Given the description of an element on the screen output the (x, y) to click on. 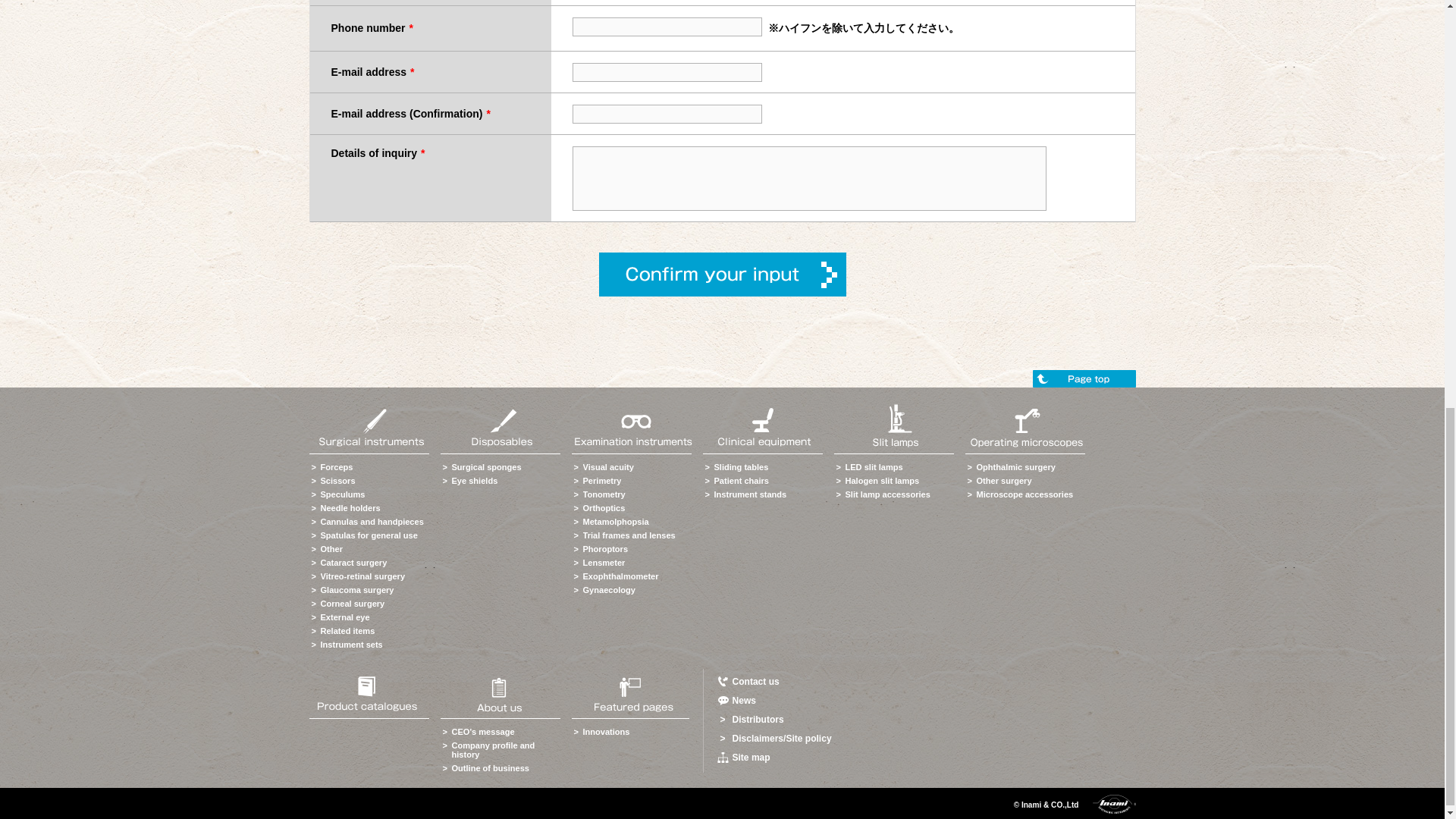
Tonometry (603, 493)
Cataract surgery (353, 562)
Surgical sponges (486, 466)
Glaucoma surgery (356, 589)
Corneal surgery (352, 603)
Forceps (336, 466)
Cannulas and handpieces (371, 521)
PAGETOP (1083, 378)
Spatulas for general use (368, 534)
Instrument sets (350, 644)
Scissors (337, 480)
Other (331, 548)
External eye (344, 616)
Perimetry (601, 480)
Eye shields (474, 480)
